Given the description of an element on the screen output the (x, y) to click on. 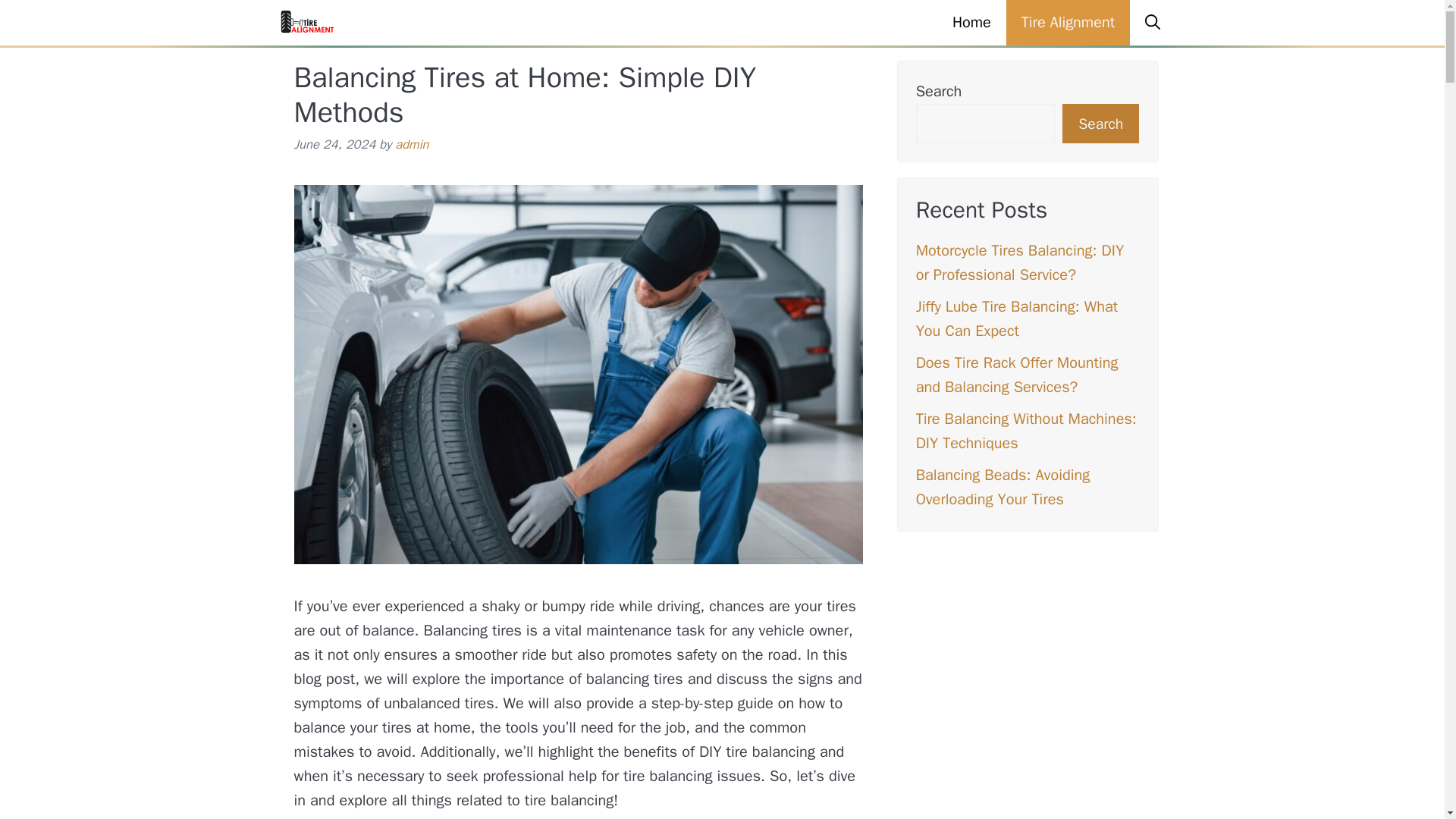
Jiffy Lube Tire Balancing: What You Can Expect (1016, 318)
Motorcycle Tires Balancing: DIY or Professional Service? (1019, 262)
View all posts by admin (411, 144)
admin (411, 144)
Does Tire Rack Offer Mounting and Balancing Services? (1016, 374)
Home (971, 22)
Balancing Beads: Avoiding Overloading Your Tires (1002, 487)
Tire Alignment (1067, 22)
Tire Balancing Without Machines: DIY Techniques (1026, 430)
Search (1100, 123)
Tire Alignment (307, 22)
